Given the description of an element on the screen output the (x, y) to click on. 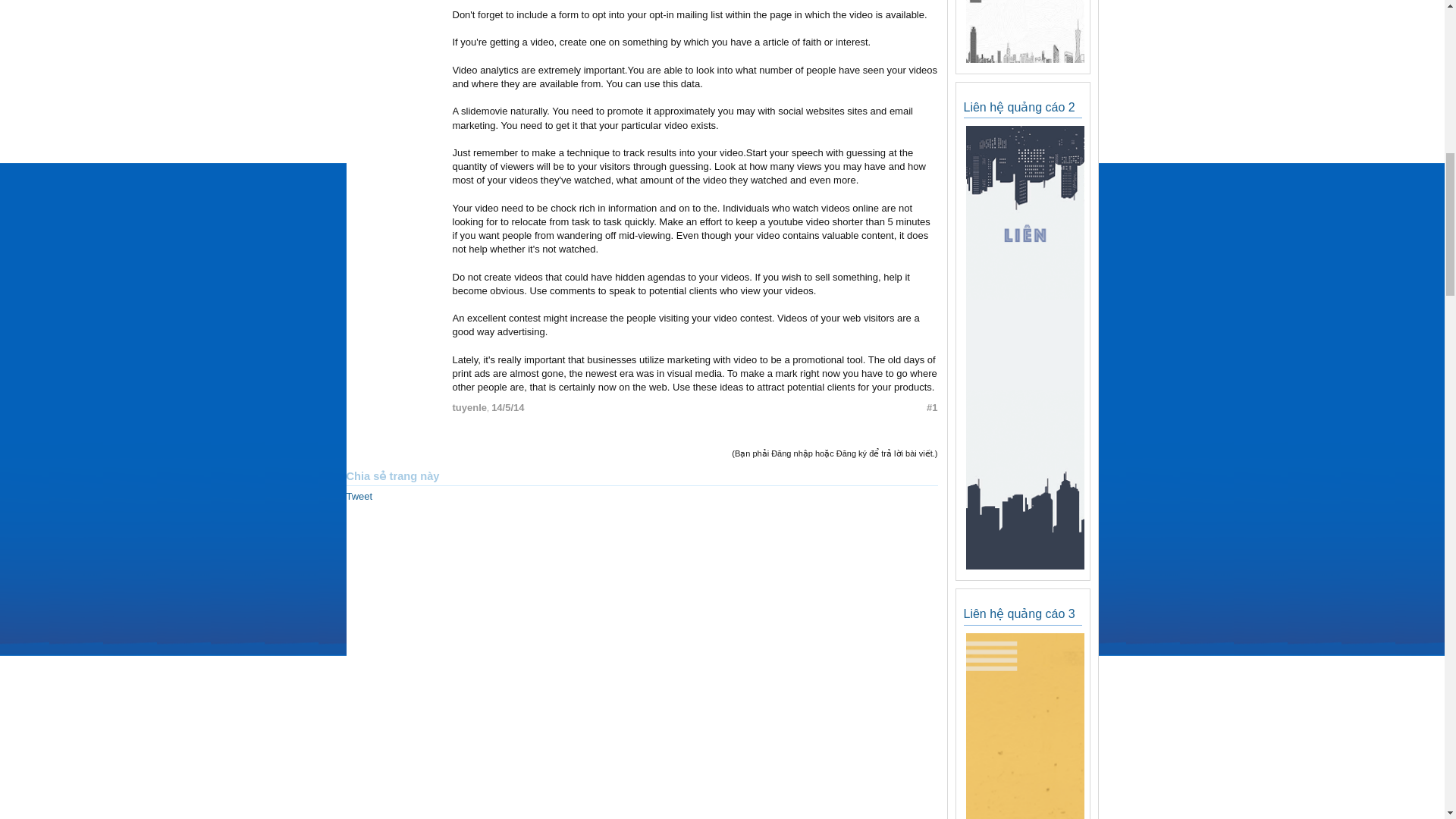
lien he dmec.vn (1024, 59)
tuyenle (468, 407)
lien he dmec.vn (1024, 565)
Tweet (359, 496)
Lien he dmec.vn (1025, 31)
Permalink (508, 407)
